Given the description of an element on the screen output the (x, y) to click on. 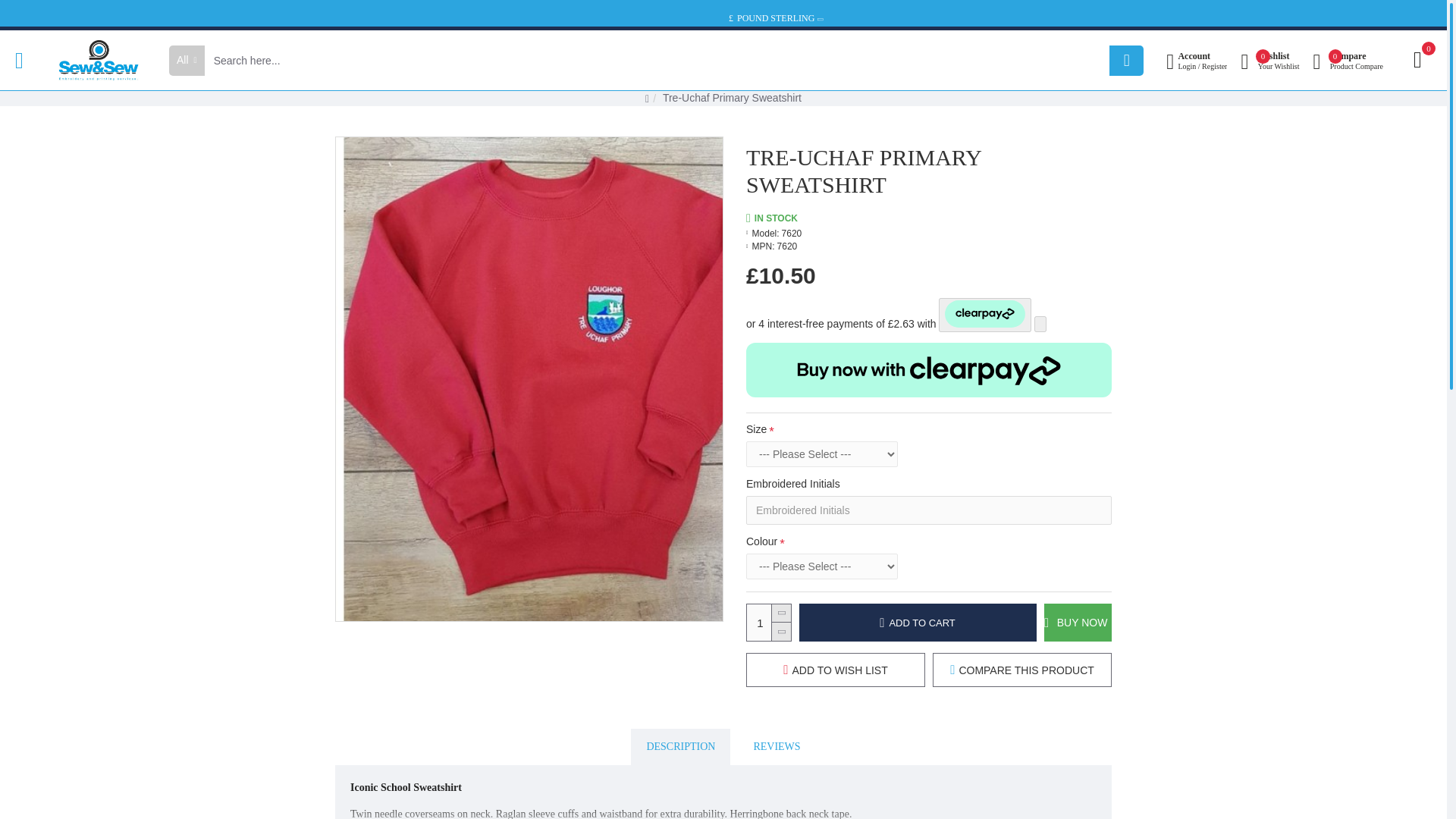
Sew and Sew Embroidery (95, 59)
1 (768, 622)
